Given the description of an element on the screen output the (x, y) to click on. 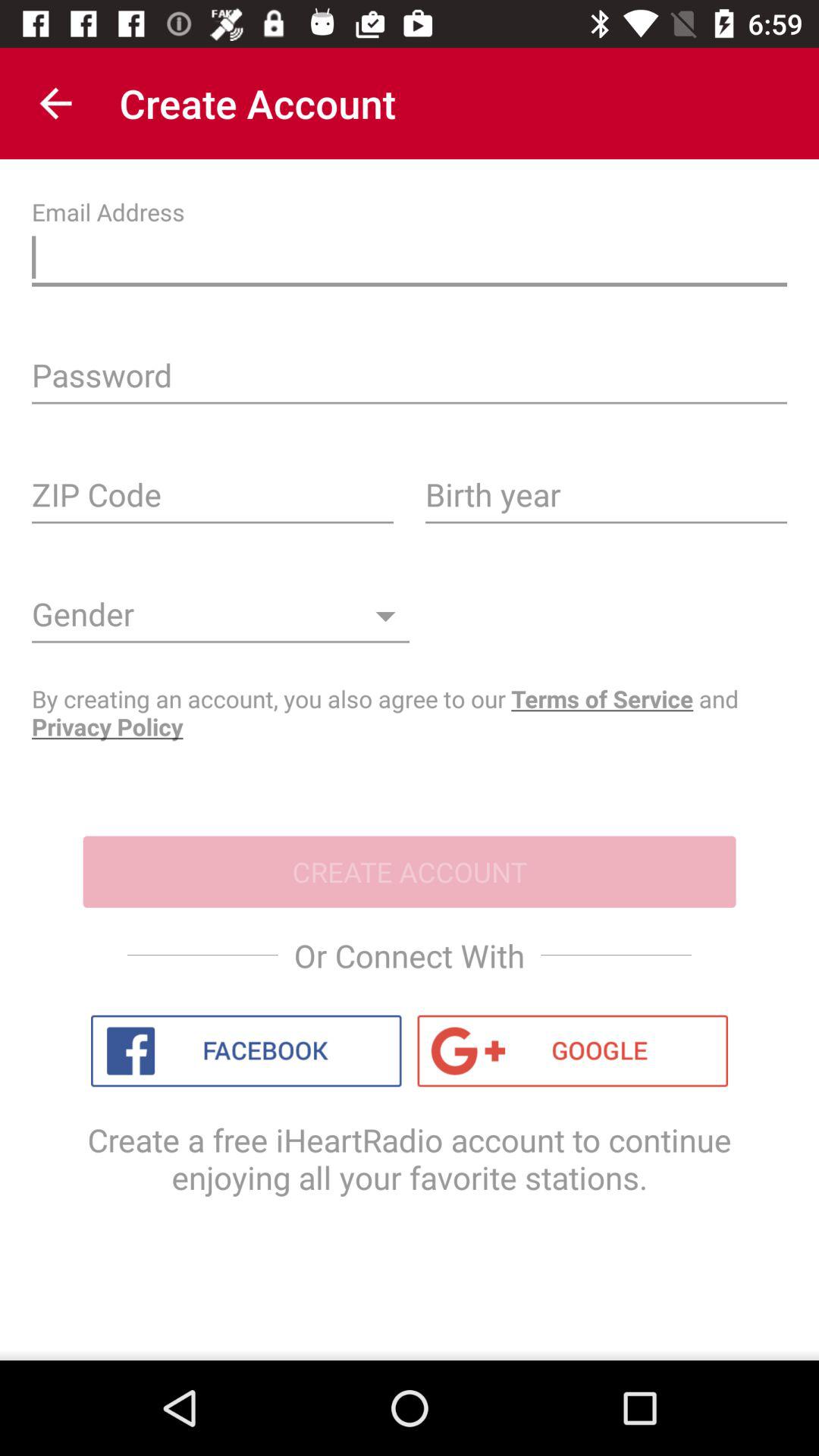
turn off item above the create a free icon (246, 1050)
